Given the description of an element on the screen output the (x, y) to click on. 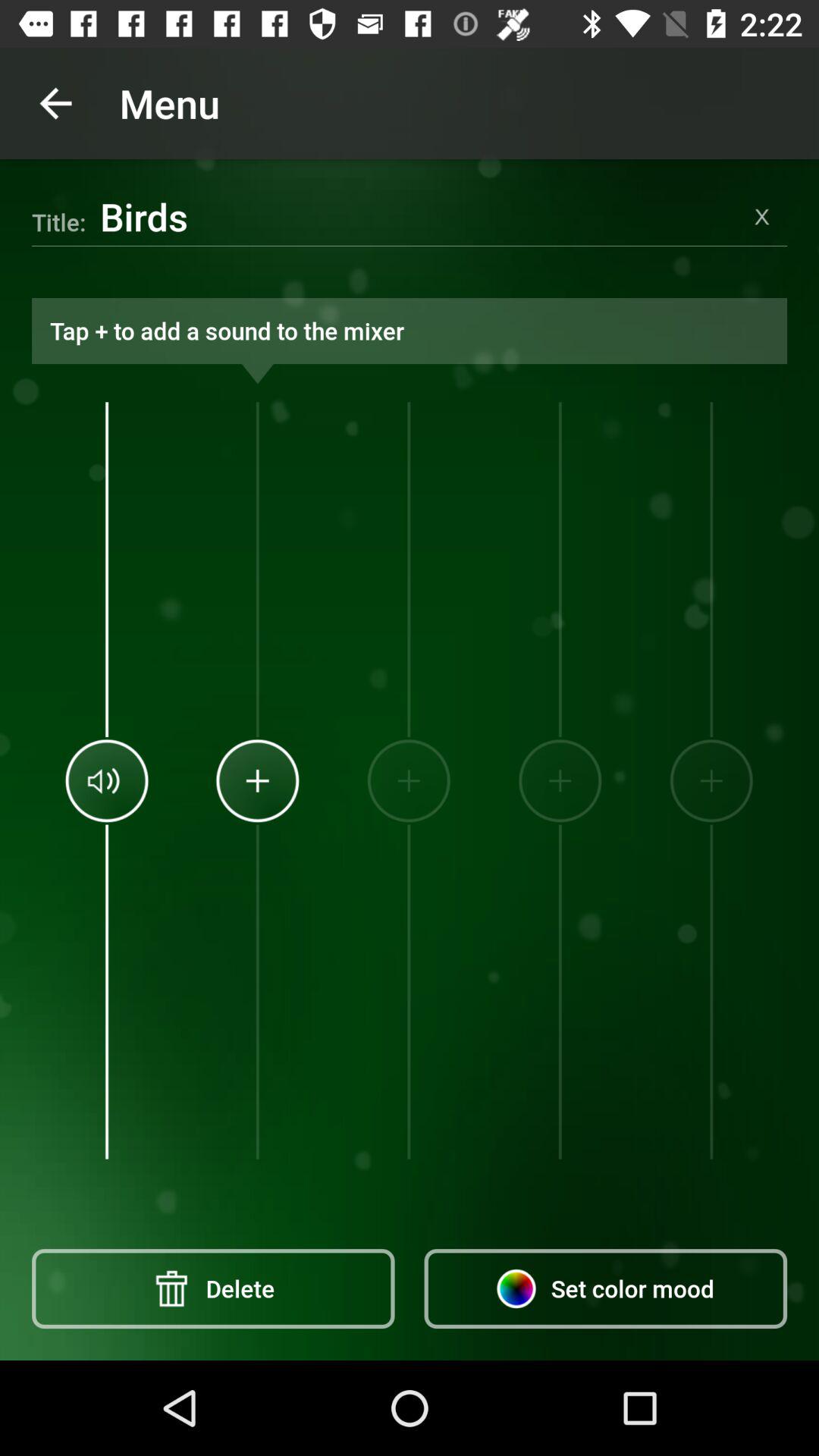
launch the icon above birds (55, 103)
